Given the description of an element on the screen output the (x, y) to click on. 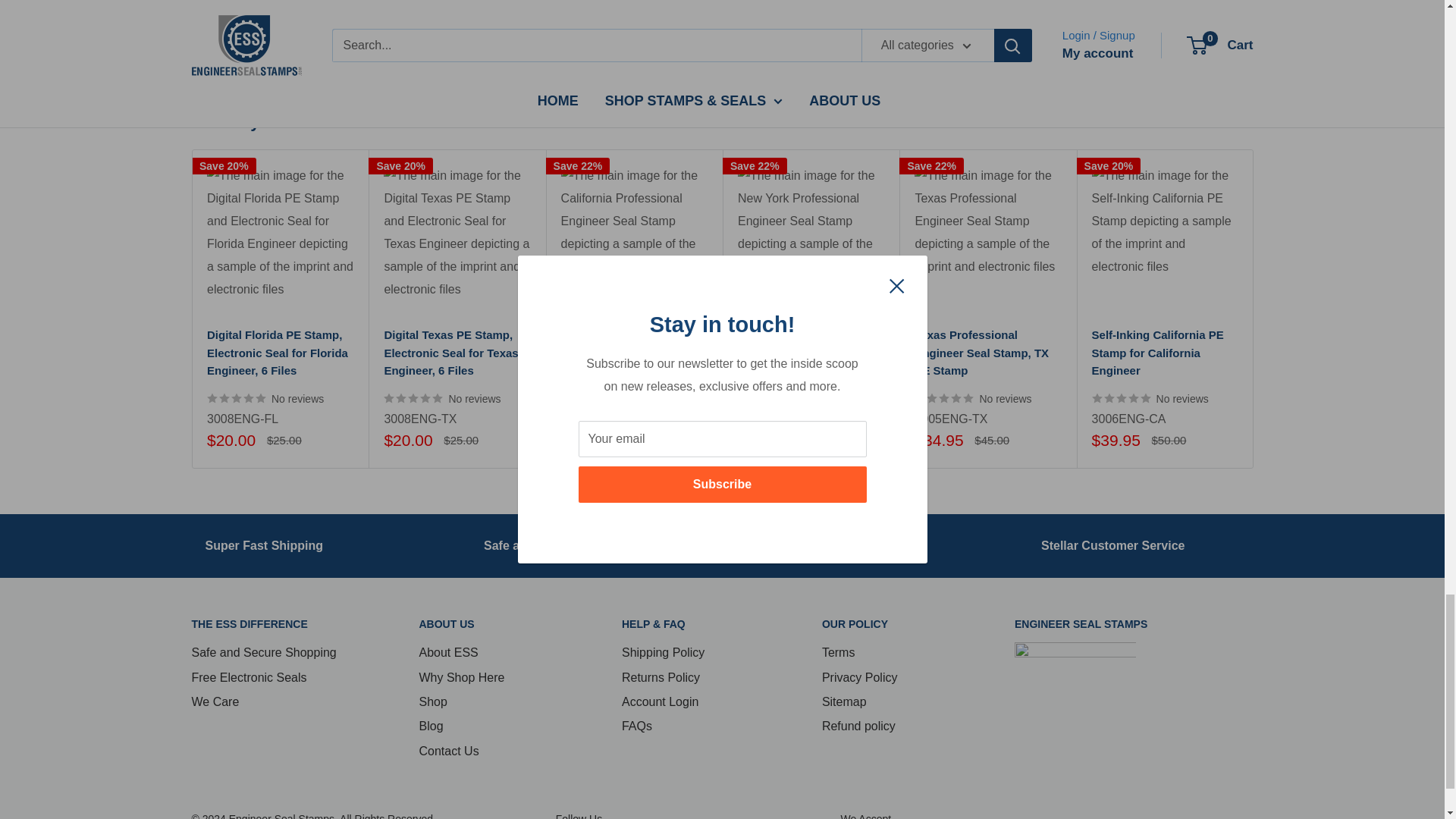
Contact Us (1113, 545)
Safe and Secure Shopping (560, 545)
Super-Fast Shipping (264, 545)
Free Electronic Seals (823, 545)
